Given the description of an element on the screen output the (x, y) to click on. 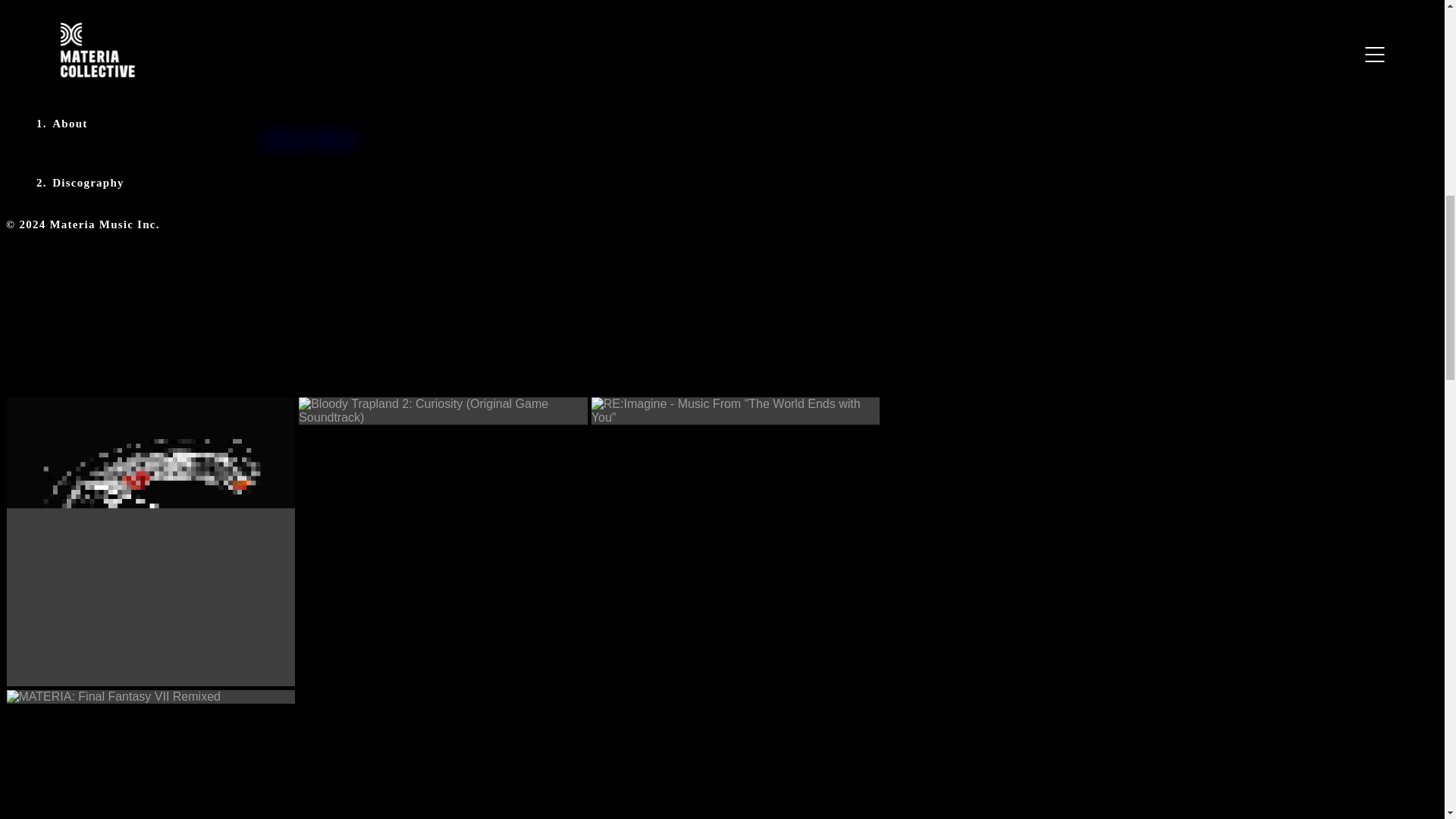
Materia Collective (310, 139)
